Given the description of an element on the screen output the (x, y) to click on. 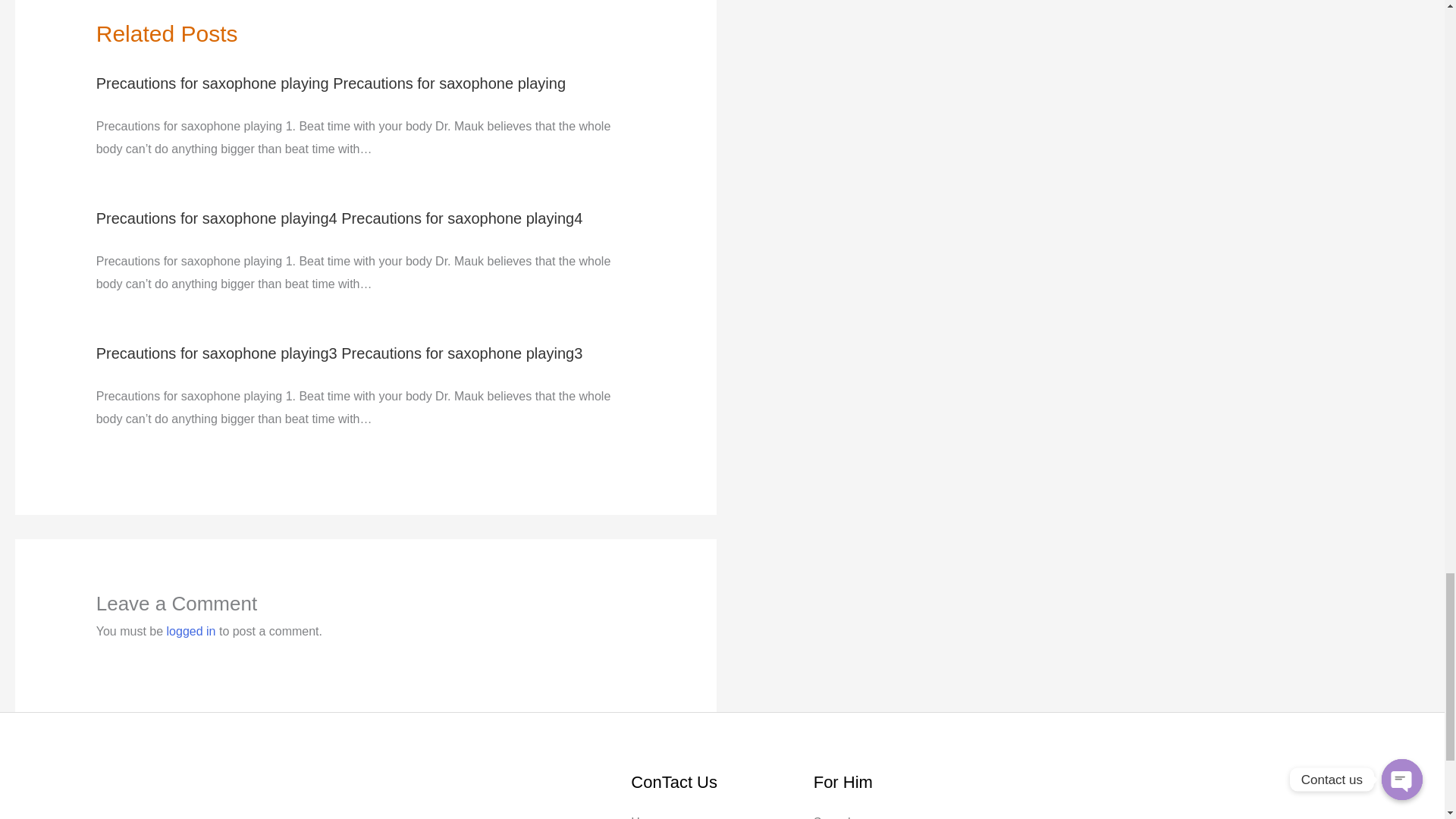
logged in (191, 631)
